Given the description of an element on the screen output the (x, y) to click on. 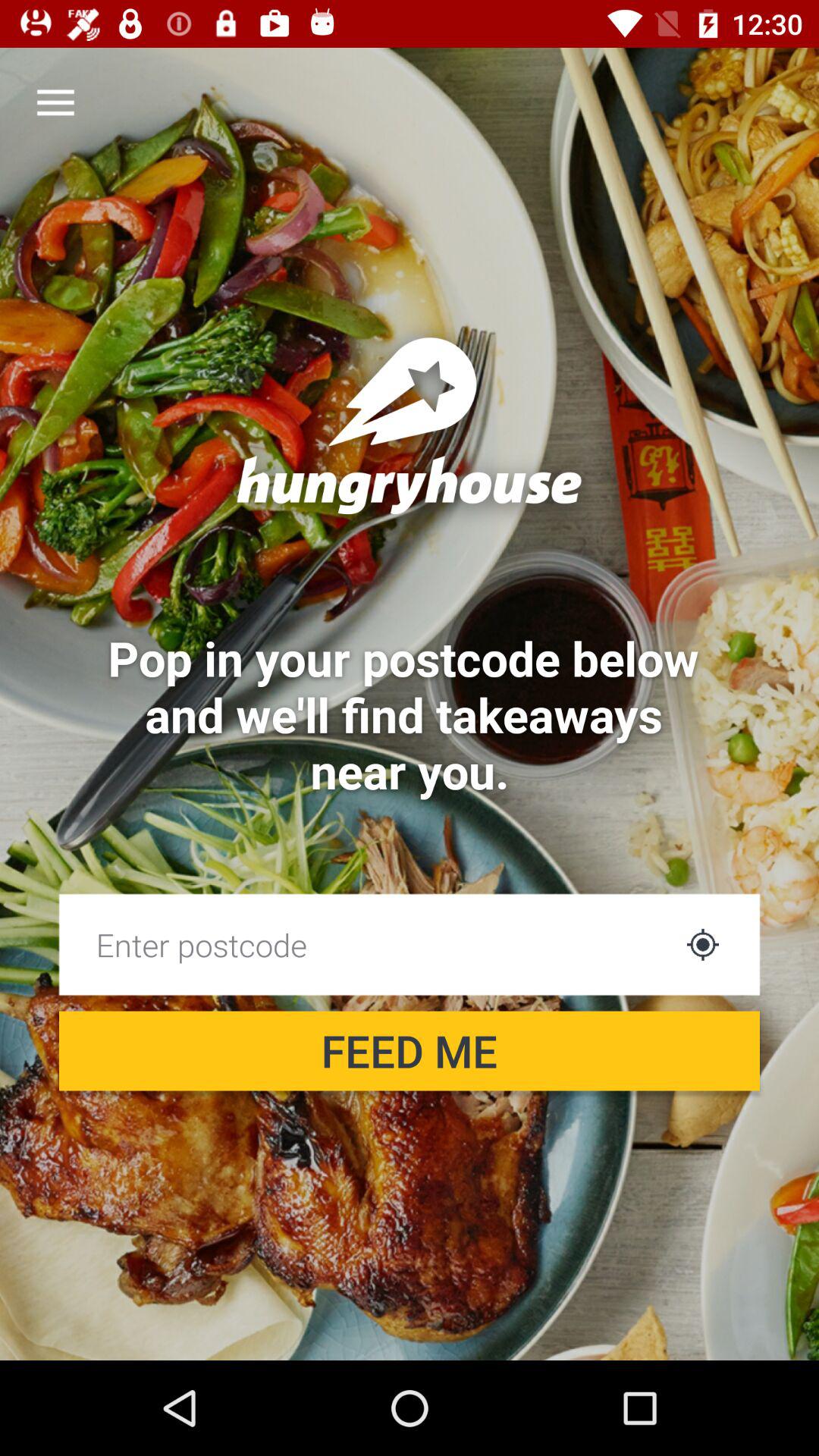
enter postcode based on gps location (702, 944)
